Given the description of an element on the screen output the (x, y) to click on. 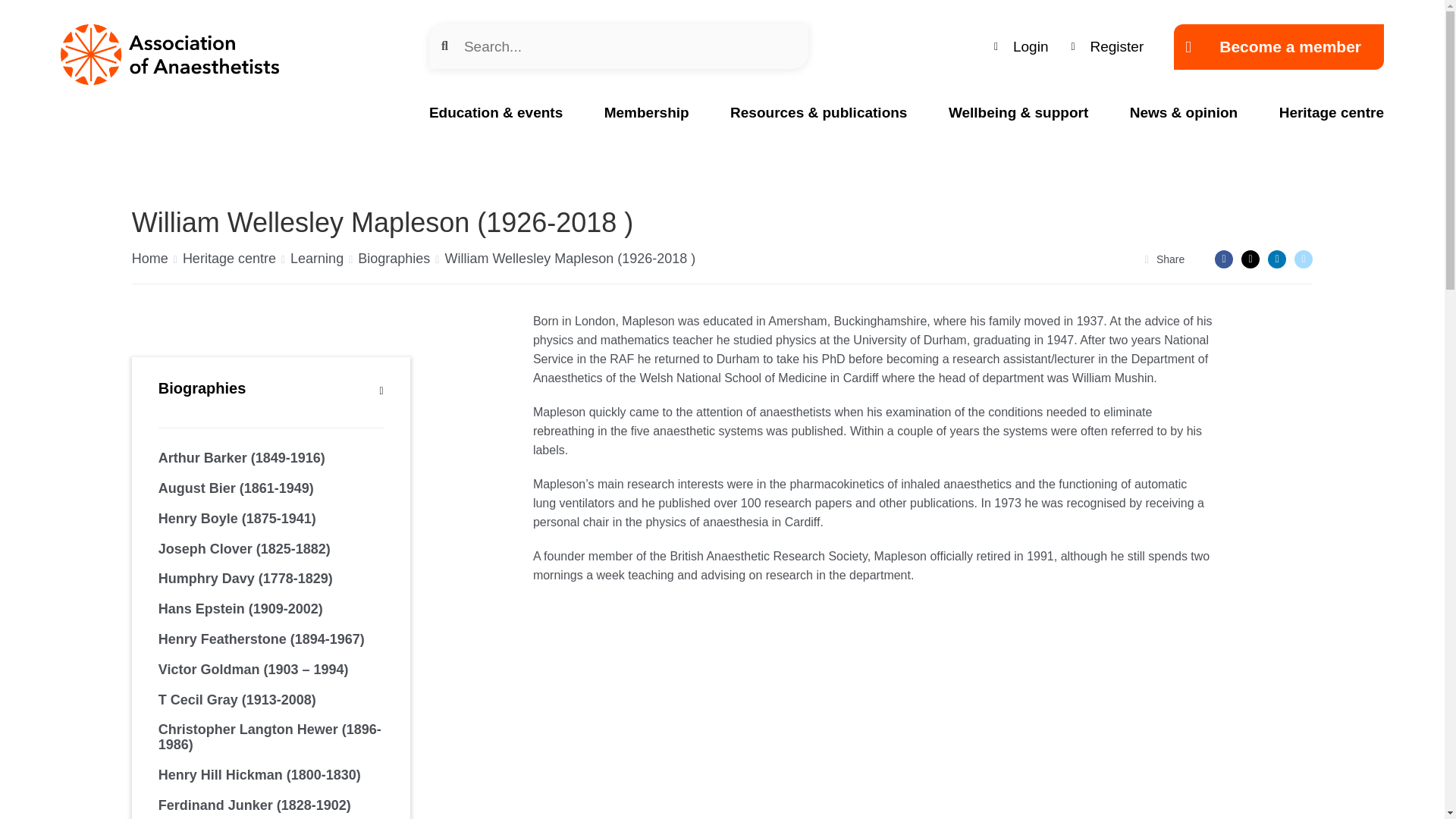
Register (1106, 46)
Login (1020, 46)
Login (1020, 46)
Become a member (1278, 46)
Register (1106, 46)
